Given the description of an element on the screen output the (x, y) to click on. 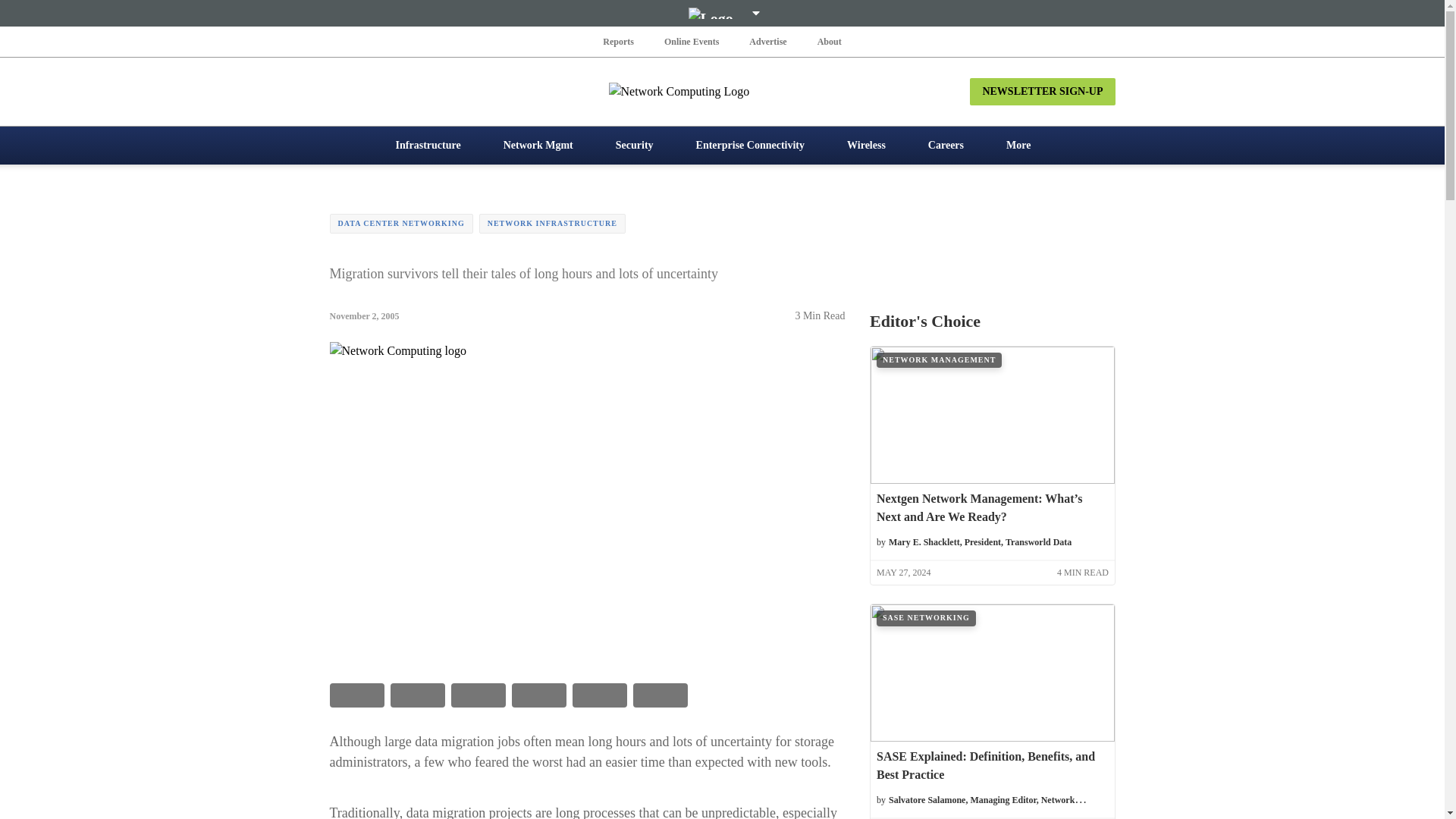
Online Events (691, 41)
Advertise (767, 41)
Reports (618, 41)
About (828, 41)
NEWSLETTER SIGN-UP (1042, 90)
Network Computing Logo (721, 91)
